Given the description of an element on the screen output the (x, y) to click on. 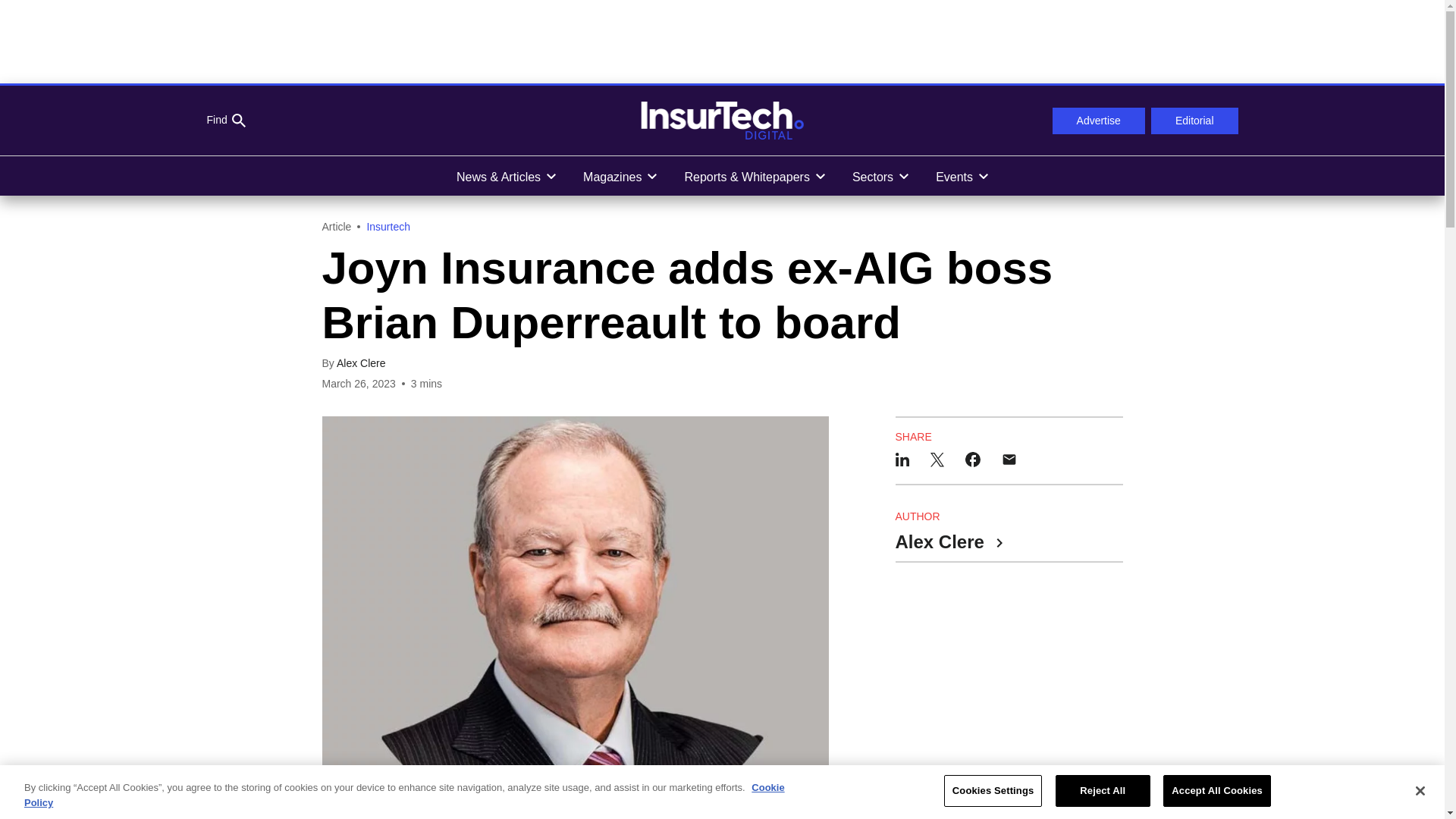
3rd party ad content (1008, 681)
Sectors (879, 175)
3rd party ad content (721, 41)
Magazines (619, 175)
Find (225, 120)
Events (961, 175)
Advertise (1098, 121)
Editorial (1195, 121)
